Given the description of an element on the screen output the (x, y) to click on. 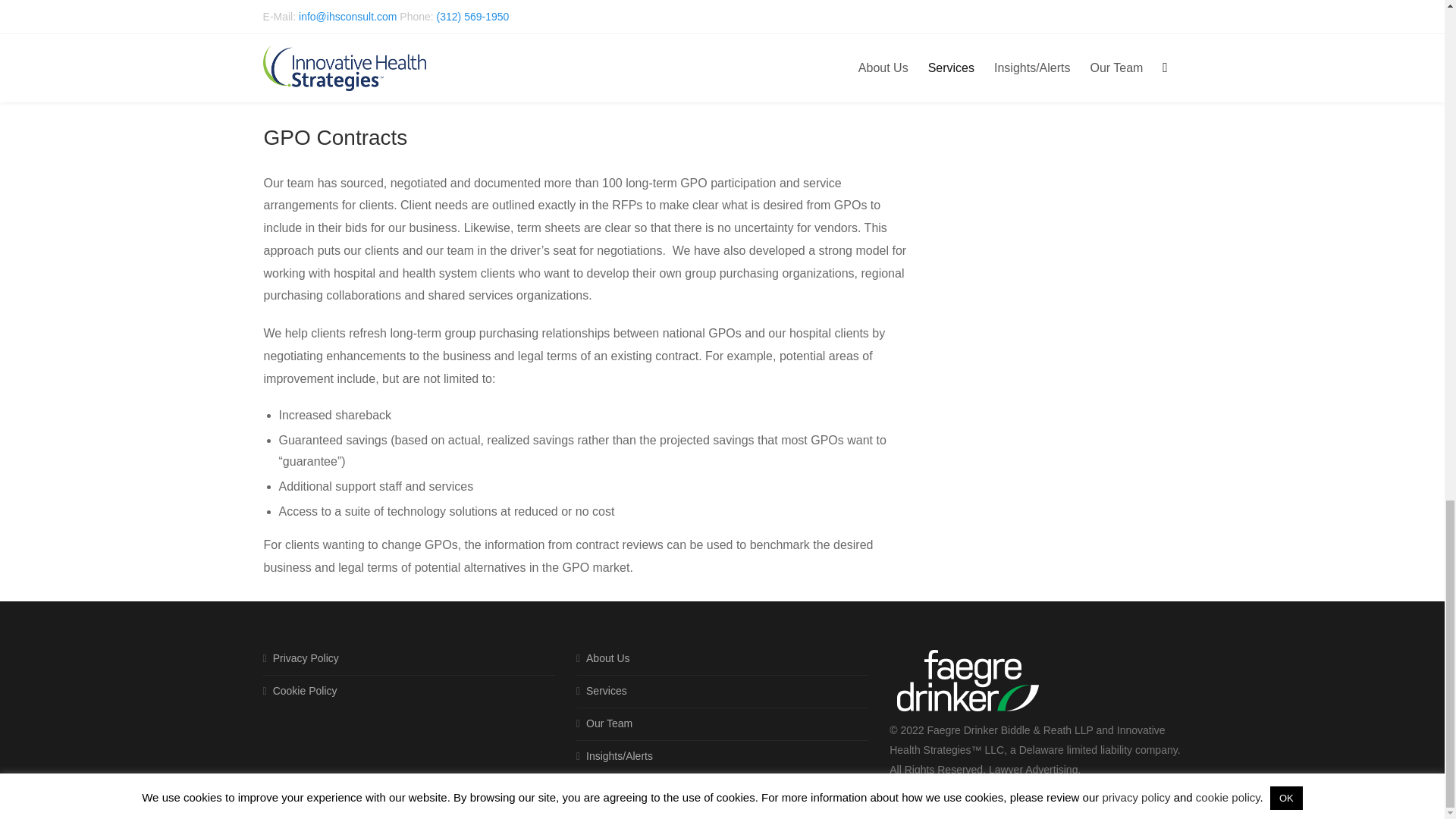
Our Team (603, 724)
Services (601, 691)
Cookie Policy (300, 691)
About Us (603, 661)
Privacy Policy (301, 661)
